Given the description of an element on the screen output the (x, y) to click on. 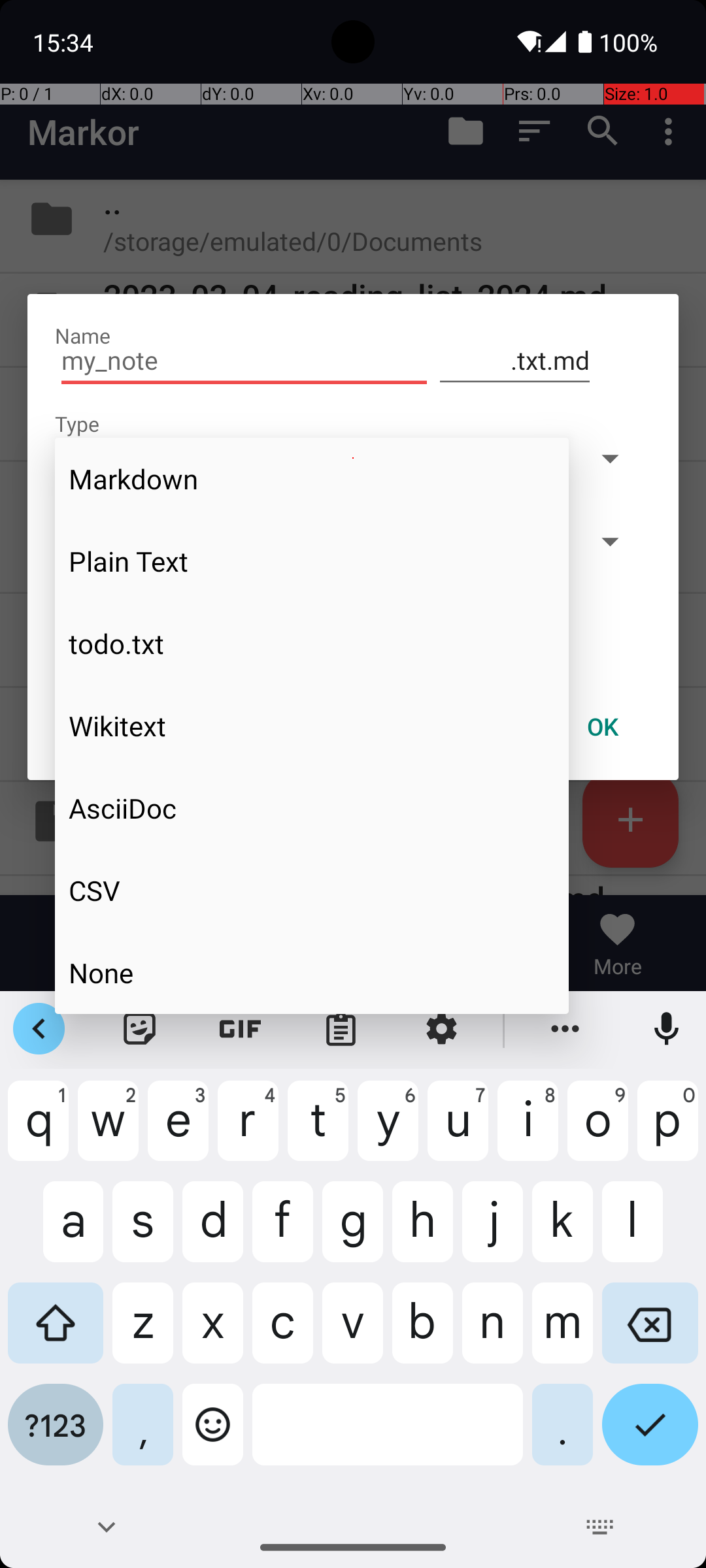
CSV Element type: android.widget.TextView (311, 890)
